Given the description of an element on the screen output the (x, y) to click on. 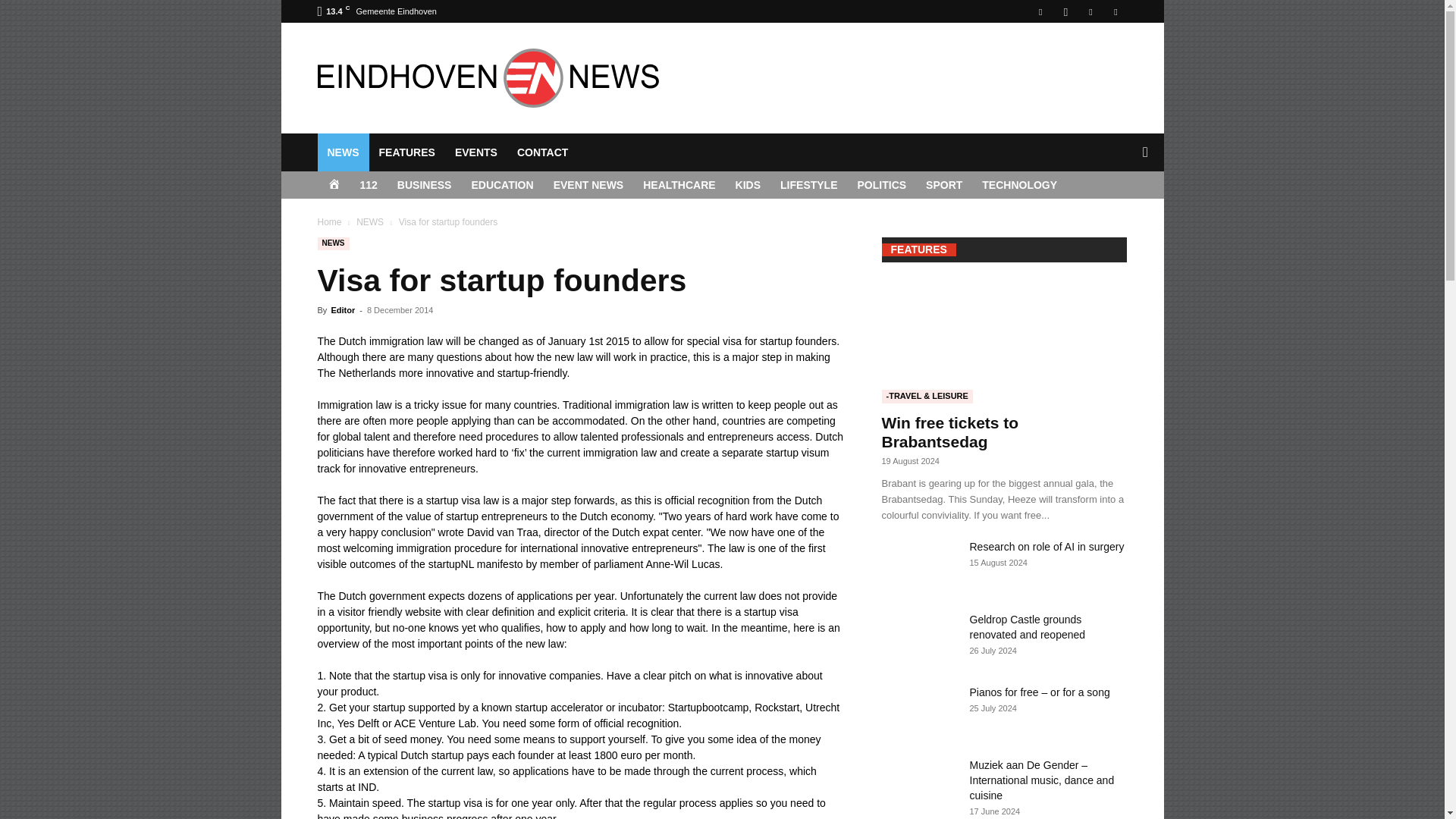
FEATURES (406, 152)
View all posts in NEWS (370, 222)
BUSINESS (424, 185)
EVENTS (475, 152)
EDUCATION (502, 185)
Linkedin (1090, 11)
Instagram (1065, 11)
HEALTHCARE (679, 185)
NEWS (342, 152)
